Given the description of an element on the screen output the (x, y) to click on. 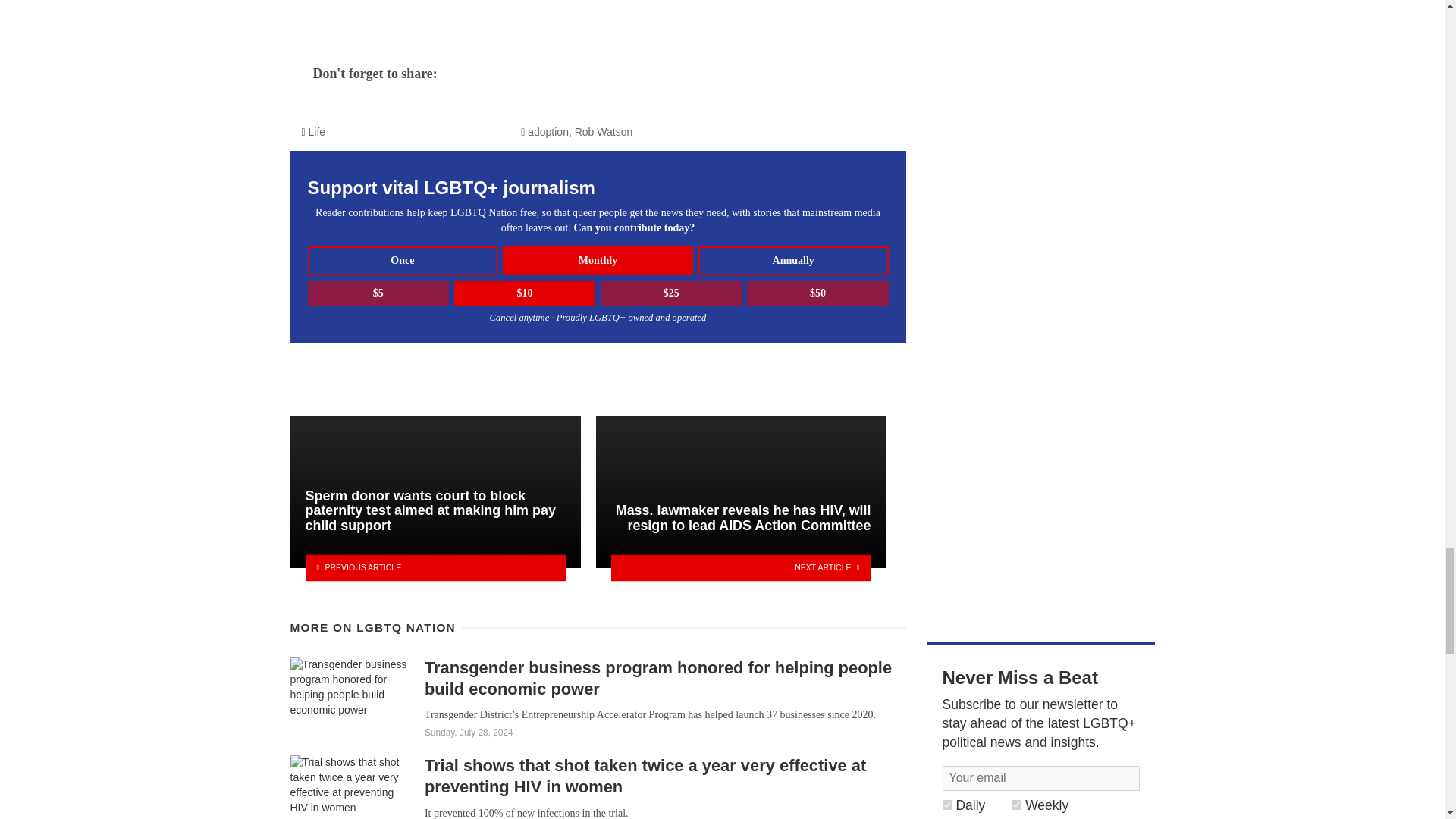
1920885 (947, 804)
1920884 (1016, 804)
